Given the description of an element on the screen output the (x, y) to click on. 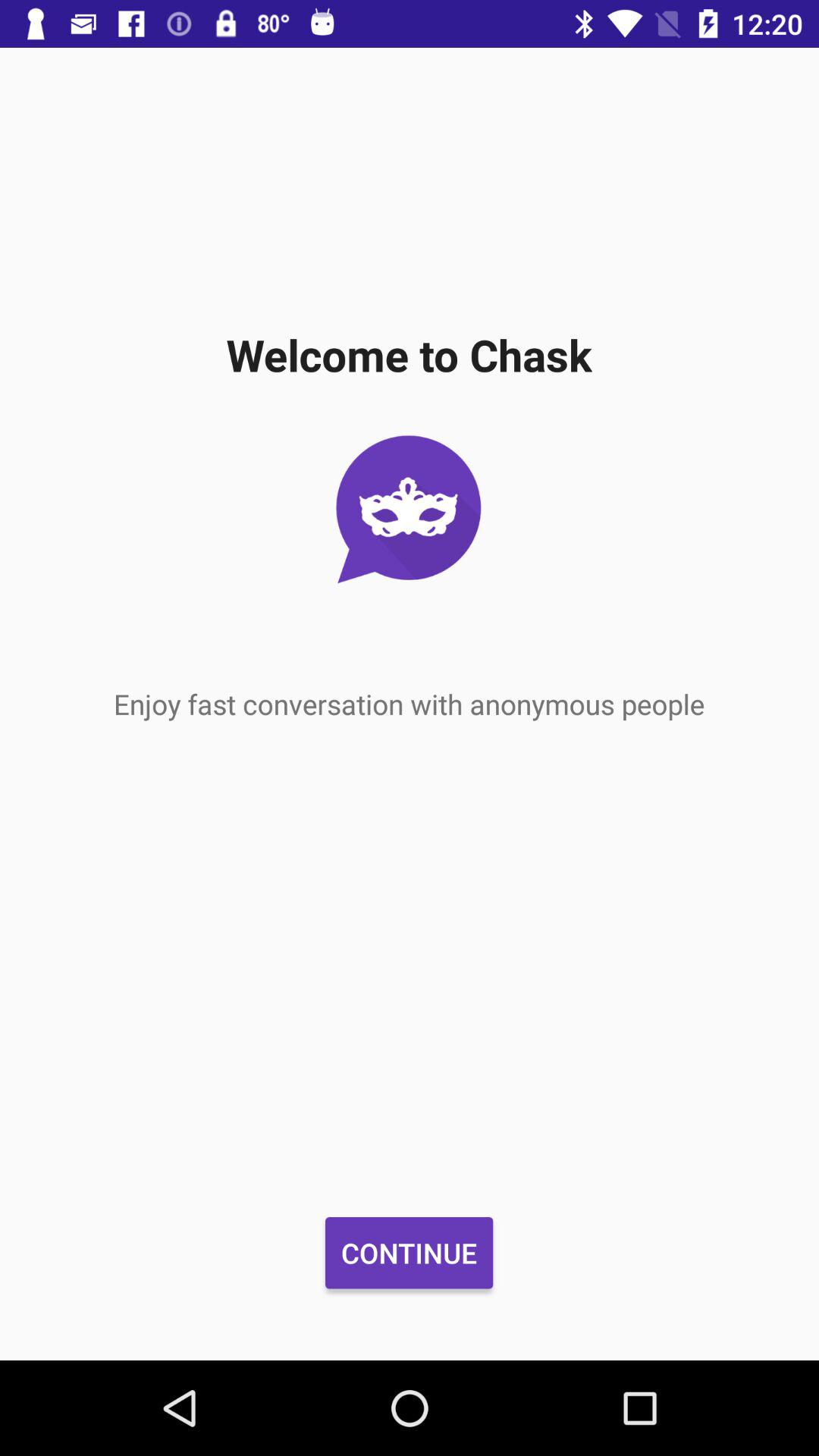
tap item below enjoy fast conversation icon (409, 1252)
